Given the description of an element on the screen output the (x, y) to click on. 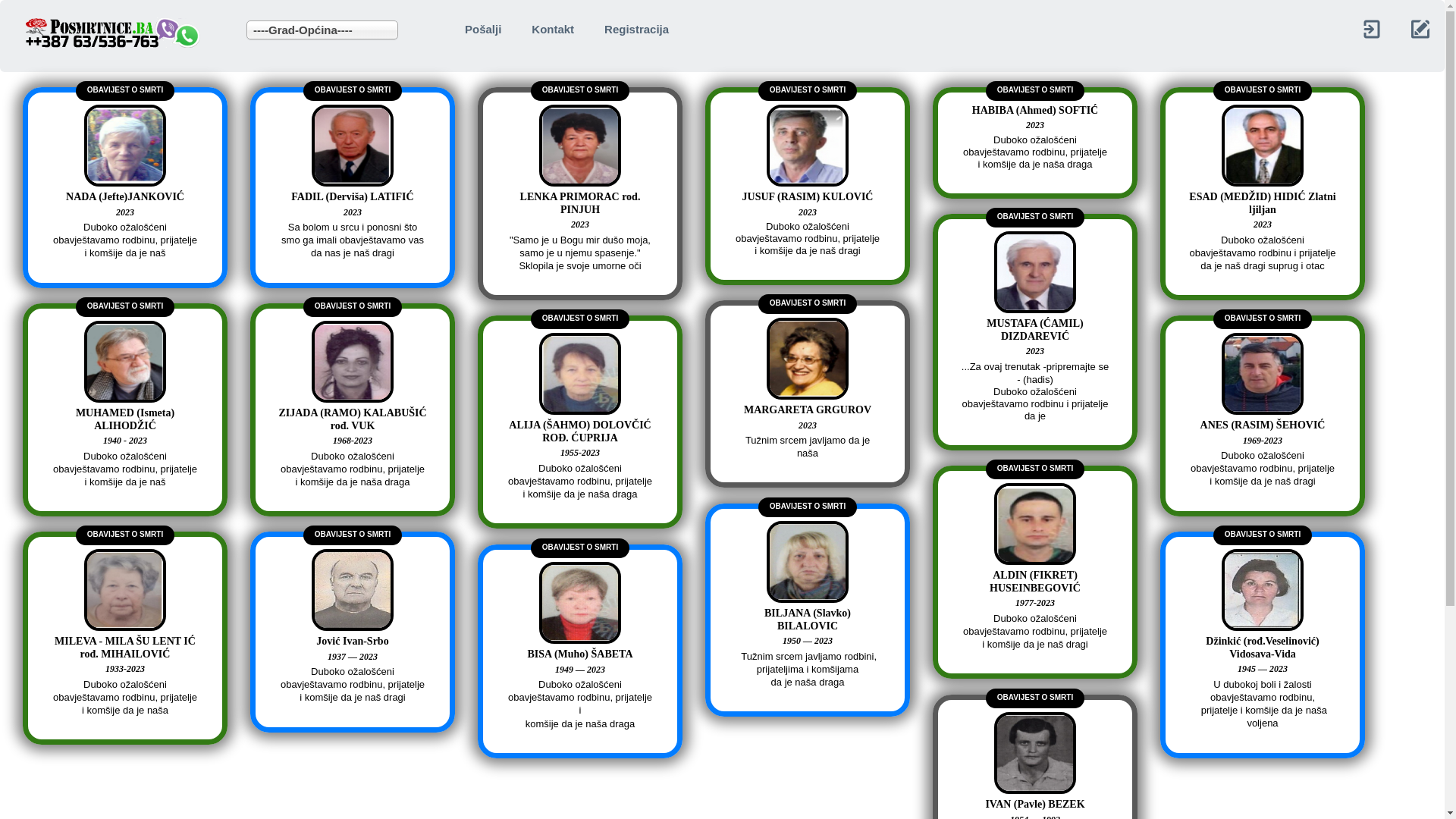
1933-2023 Element type: text (124, 676)
1968-2023 Element type: text (352, 448)
MARGARETA GRGUROV Element type: text (807, 417)
Registracija Element type: text (636, 28)
2023 Element type: text (807, 212)
2023 Element type: text (1034, 124)
1977-2023 Element type: text (1034, 610)
2023 Element type: text (1262, 231)
Kontakt Element type: text (552, 28)
2023 Element type: text (124, 219)
1940 - 2023 Element type: text (124, 448)
LENKA PRIMORAC rod. PINJUH Element type: text (579, 211)
2023 Element type: text (807, 432)
1955-2023 Element type: text (579, 460)
2023 Element type: text (579, 231)
1969-2023 Element type: text (1262, 448)
2023 Element type: text (1034, 358)
BILJANA (Slavko) BILALOVIC Element type: text (807, 627)
2023 Element type: text (352, 219)
